Given the description of an element on the screen output the (x, y) to click on. 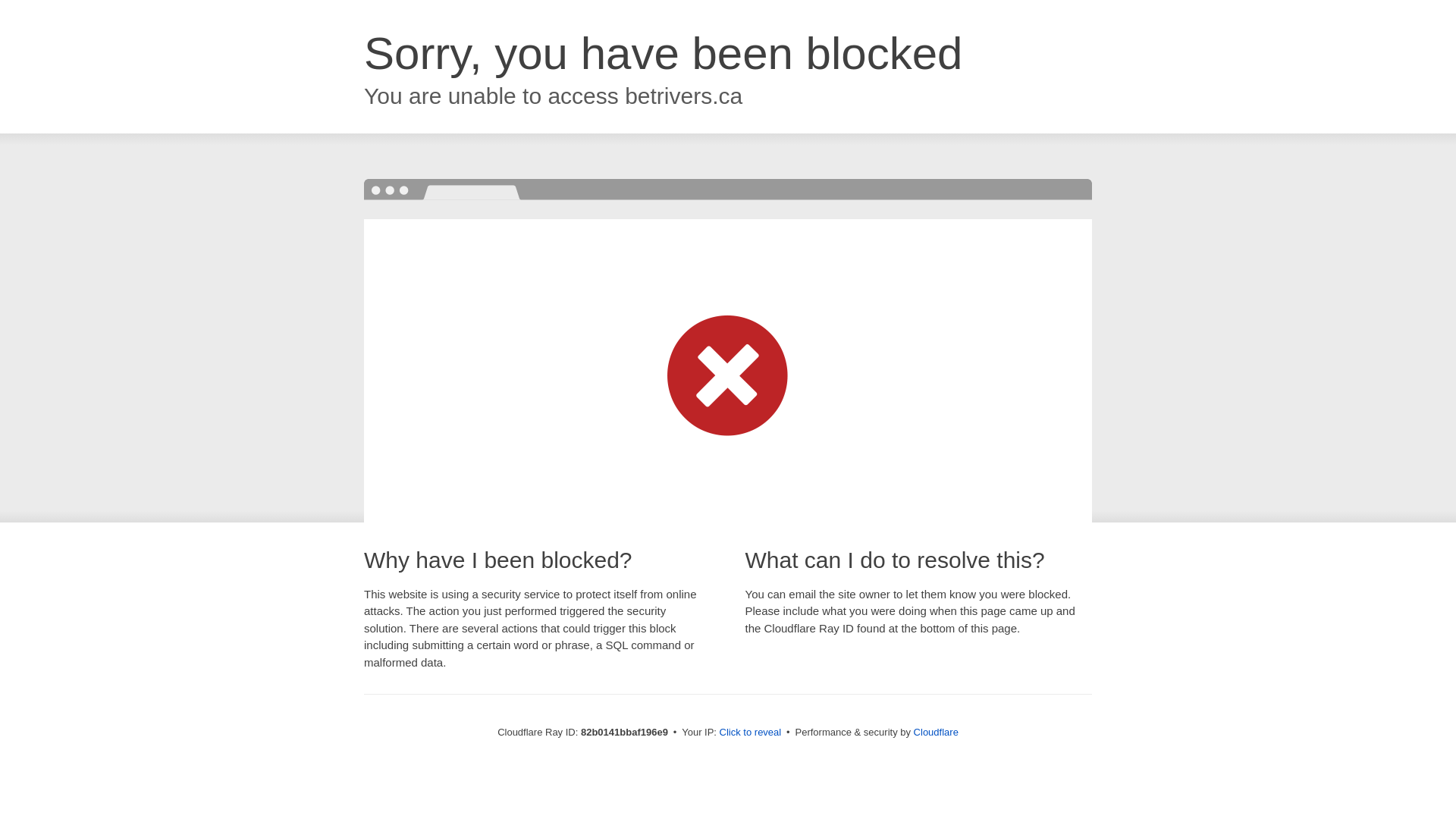
Cloudflare Element type: text (935, 731)
Click to reveal Element type: text (750, 732)
